Given the description of an element on the screen output the (x, y) to click on. 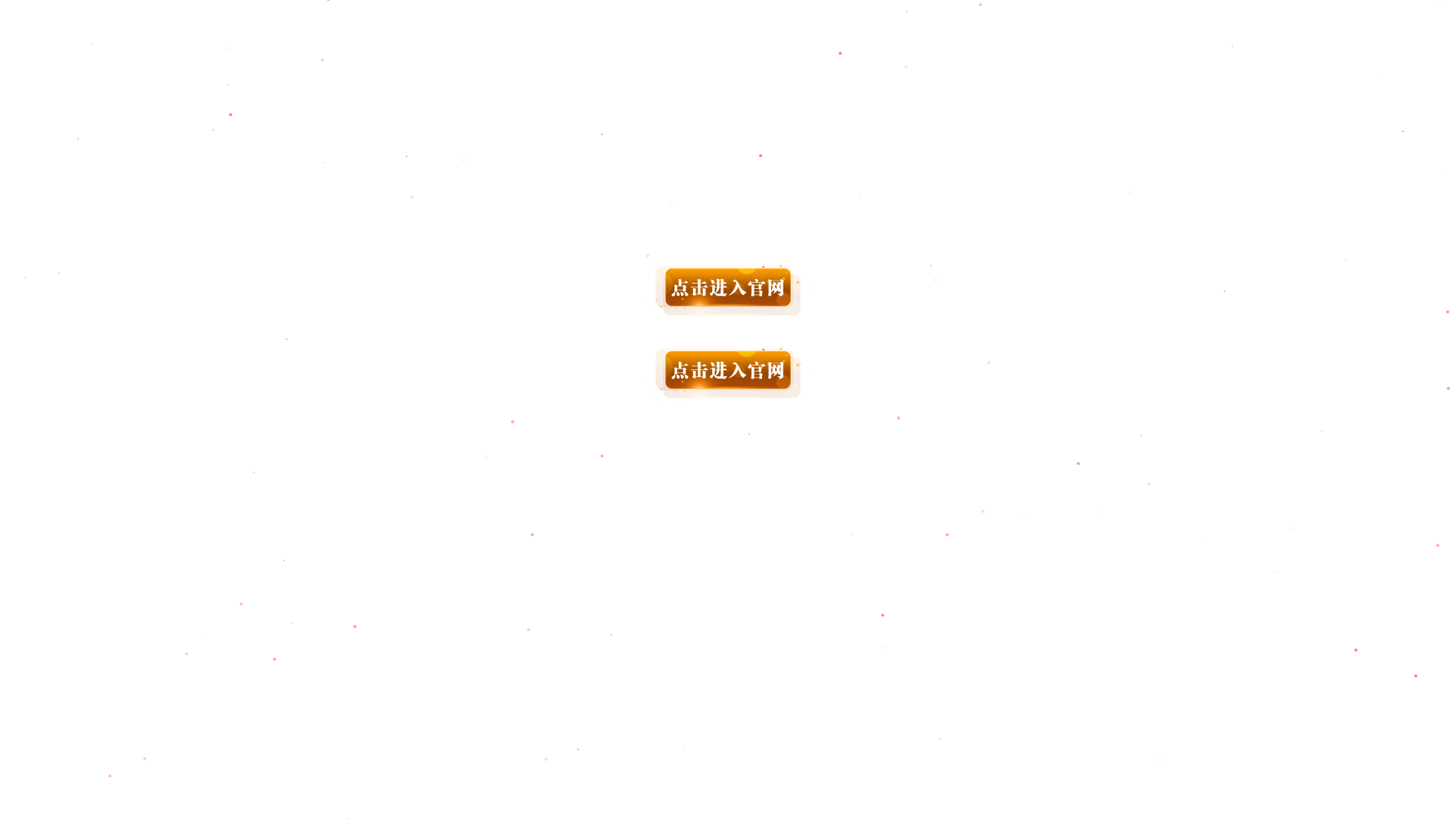
  Element type: text (727, 323)
